Given the description of an element on the screen output the (x, y) to click on. 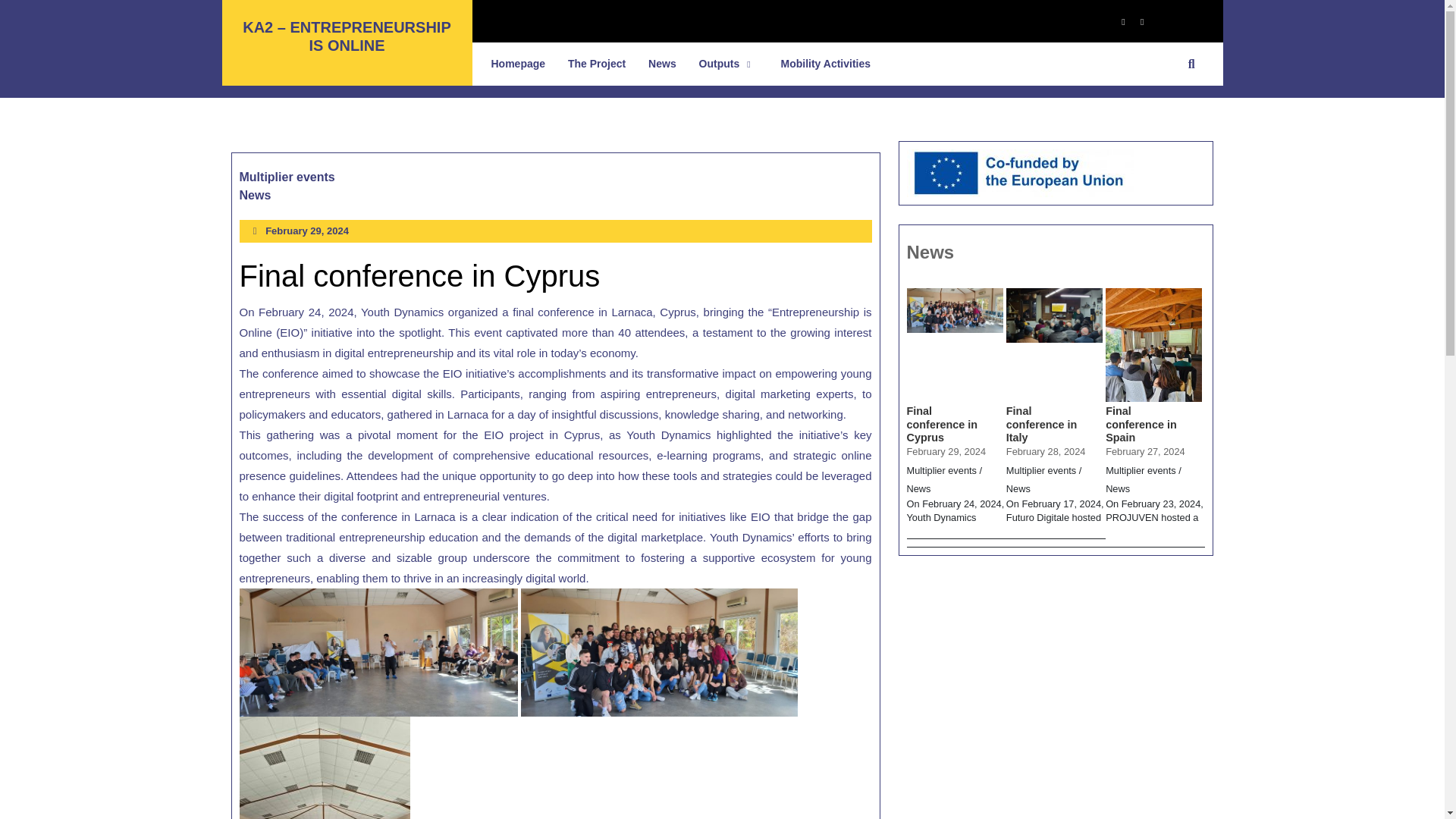
The Project (306, 230)
Instagram (596, 64)
Multiplier events (1135, 20)
Outputs (287, 177)
News (728, 64)
Facebook (662, 64)
Mobility Activities (1116, 20)
News (826, 64)
Homepage (255, 196)
